Given the description of an element on the screen output the (x, y) to click on. 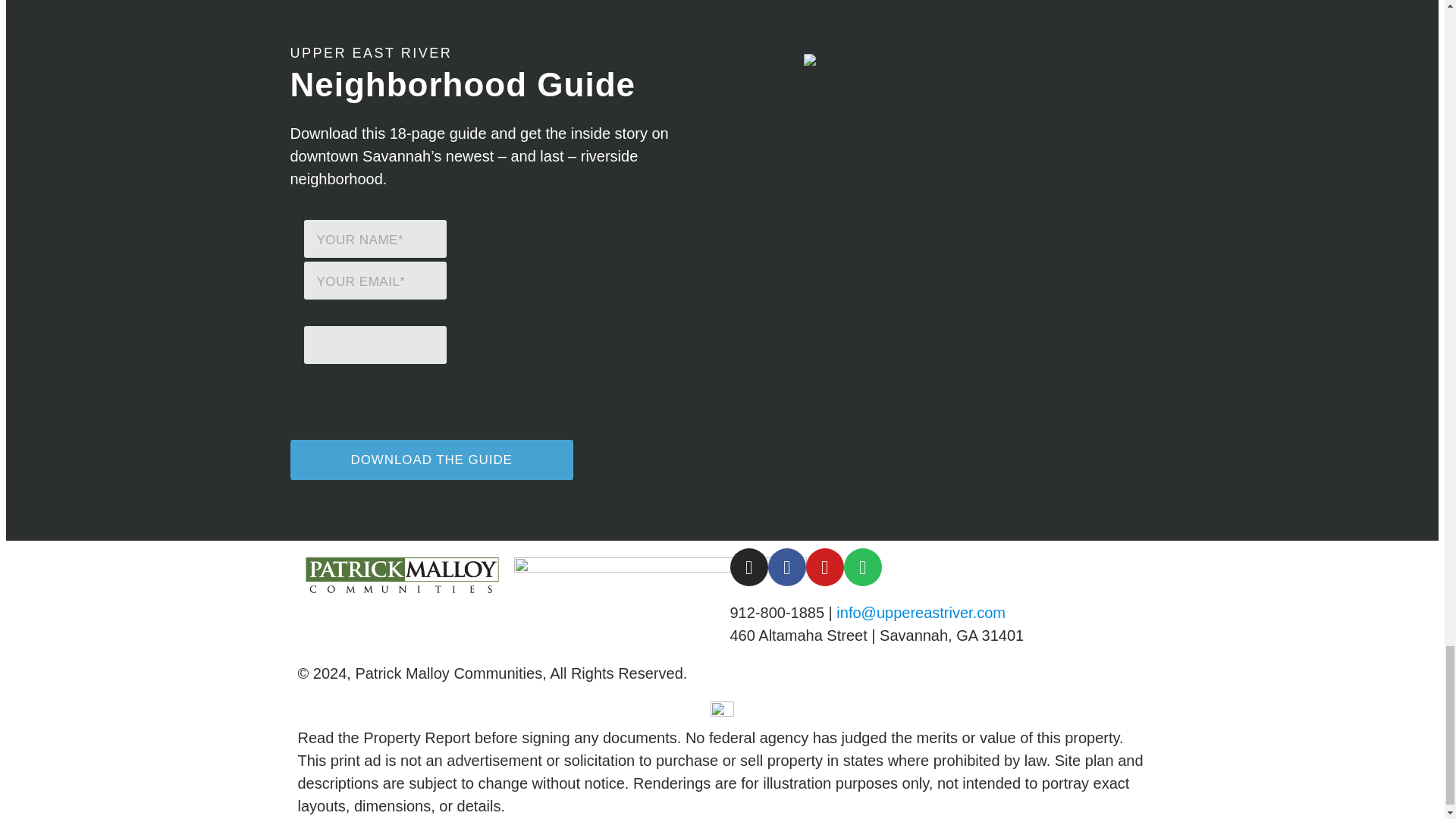
Download the Guide (430, 459)
